Given the description of an element on the screen output the (x, y) to click on. 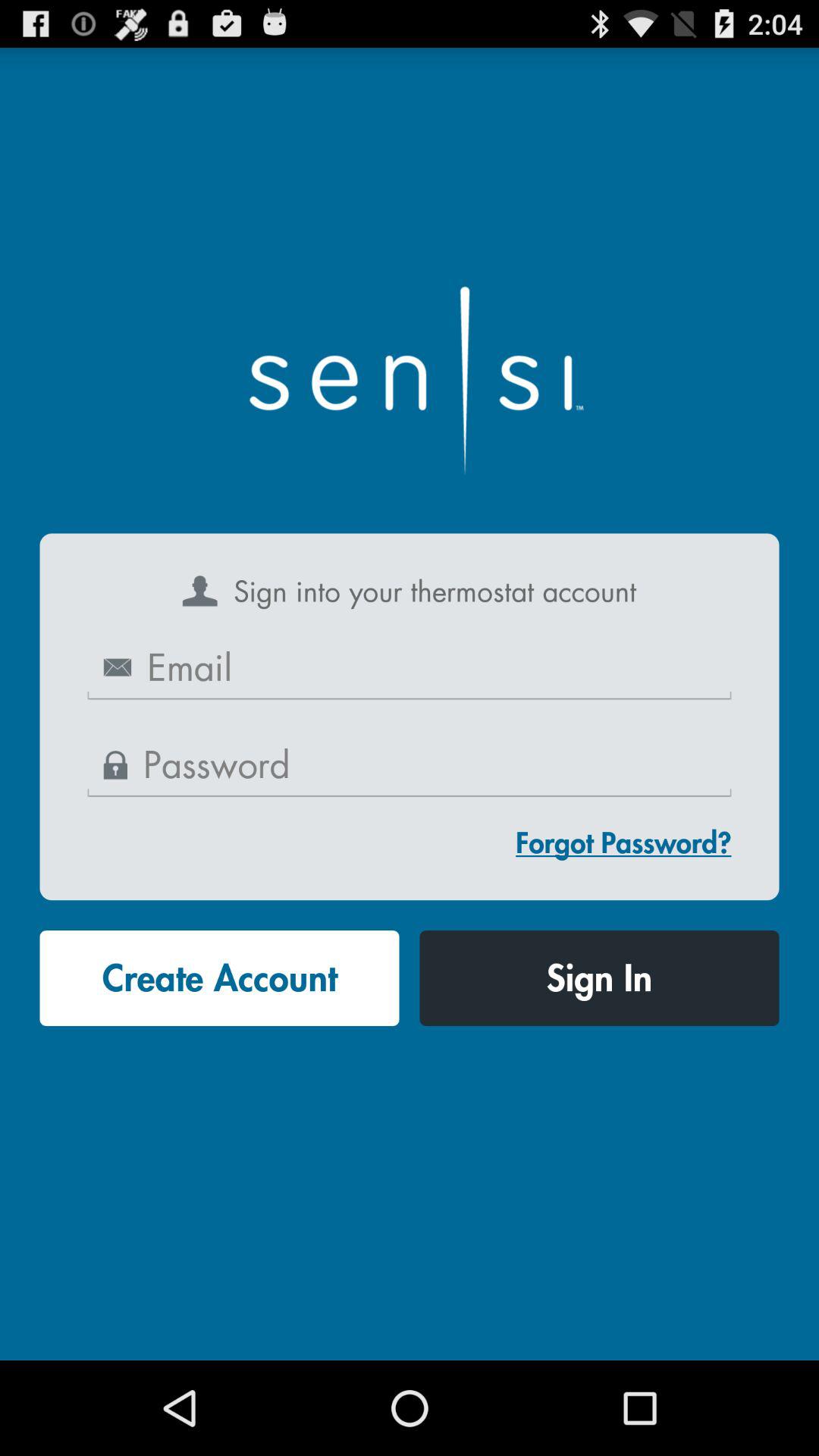
turn off the app above sign into your app (409, 373)
